Given the description of an element on the screen output the (x, y) to click on. 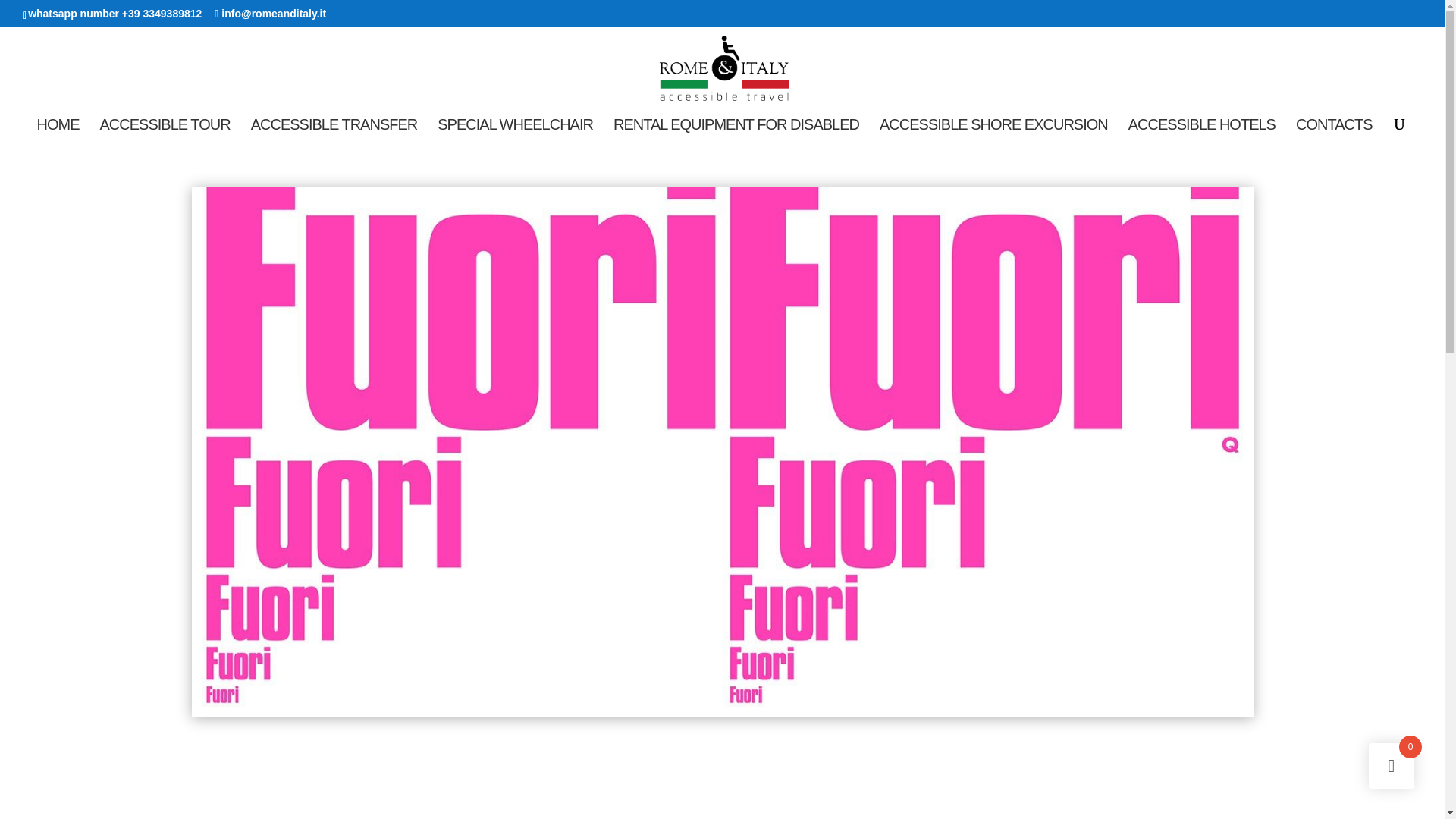
SPECIAL WHEELCHAIR (515, 132)
ACCESSIBLE TRANSFER (333, 132)
ACCESSIBLE TOUR (165, 132)
HOME (58, 132)
ACCESSIBLE HOTELS (1201, 132)
ACCESSIBLE SHORE EXCURSION (993, 132)
fuori (721, 717)
RENTAL EQUIPMENT FOR DISABLED (735, 132)
CONTACTS (1334, 132)
